Given the description of an element on the screen output the (x, y) to click on. 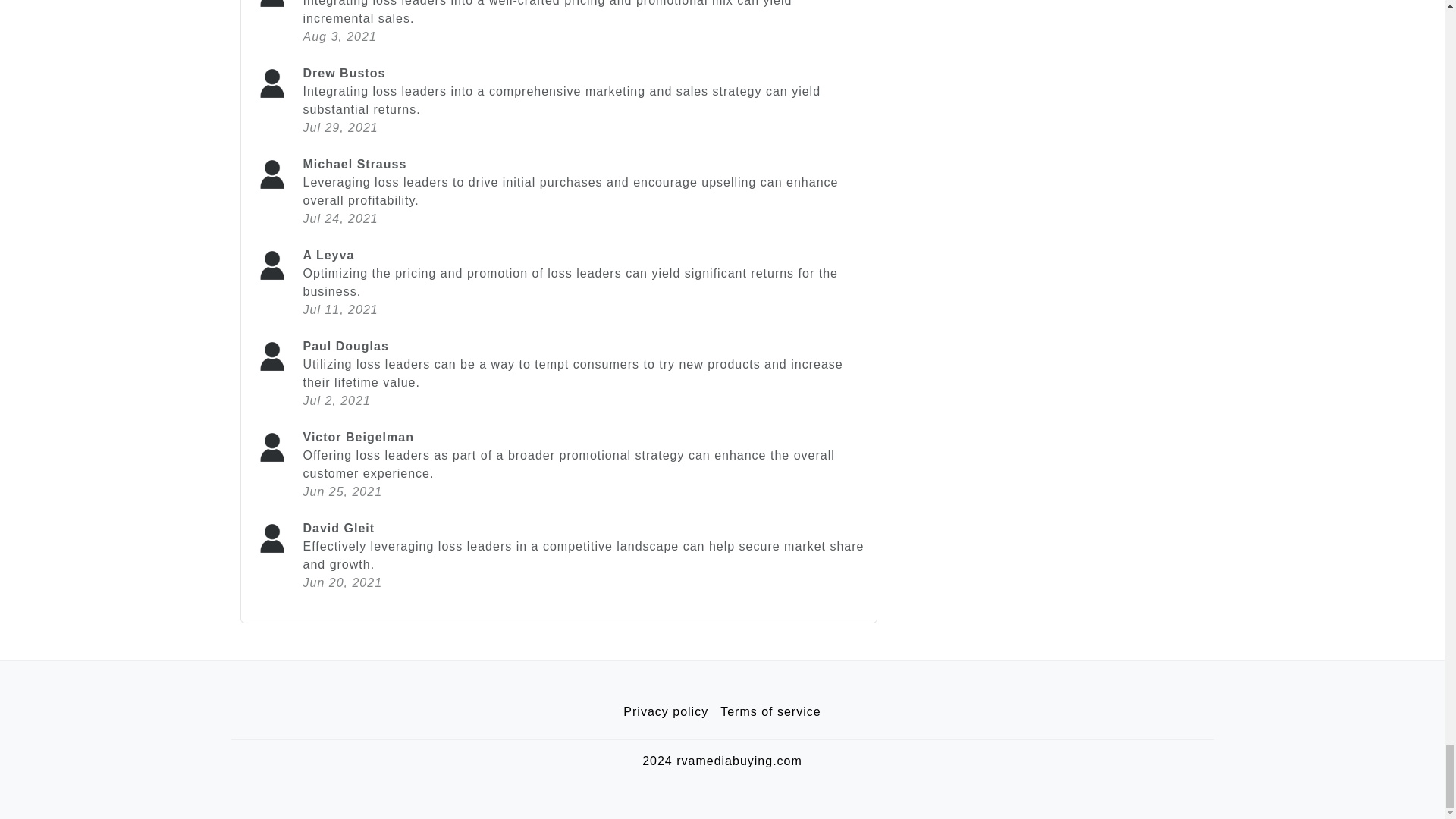
Privacy policy (665, 711)
Terms of service (770, 711)
